Given the description of an element on the screen output the (x, y) to click on. 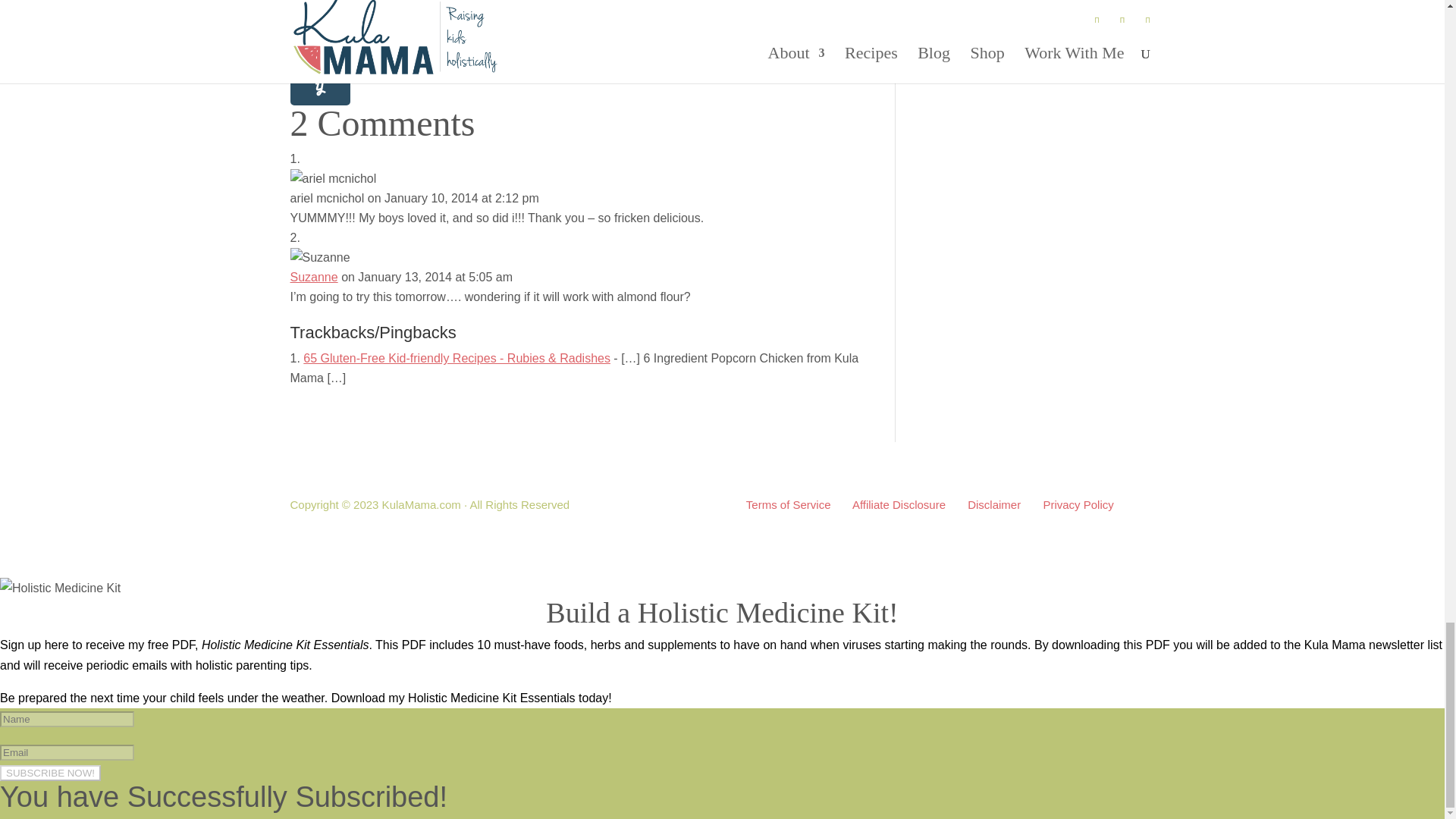
104 (319, 2)
Suzanne (313, 277)
Twitter (319, 55)
Privacy Policy (1077, 504)
Pinterest (319, 2)
Terms of Service (788, 504)
SUBSCRIBE NOW! (50, 772)
Affiliate Disclosure (897, 504)
Disclaimer (994, 504)
Facebook (319, 21)
Yummly (319, 88)
4 (319, 21)
